Given the description of an element on the screen output the (x, y) to click on. 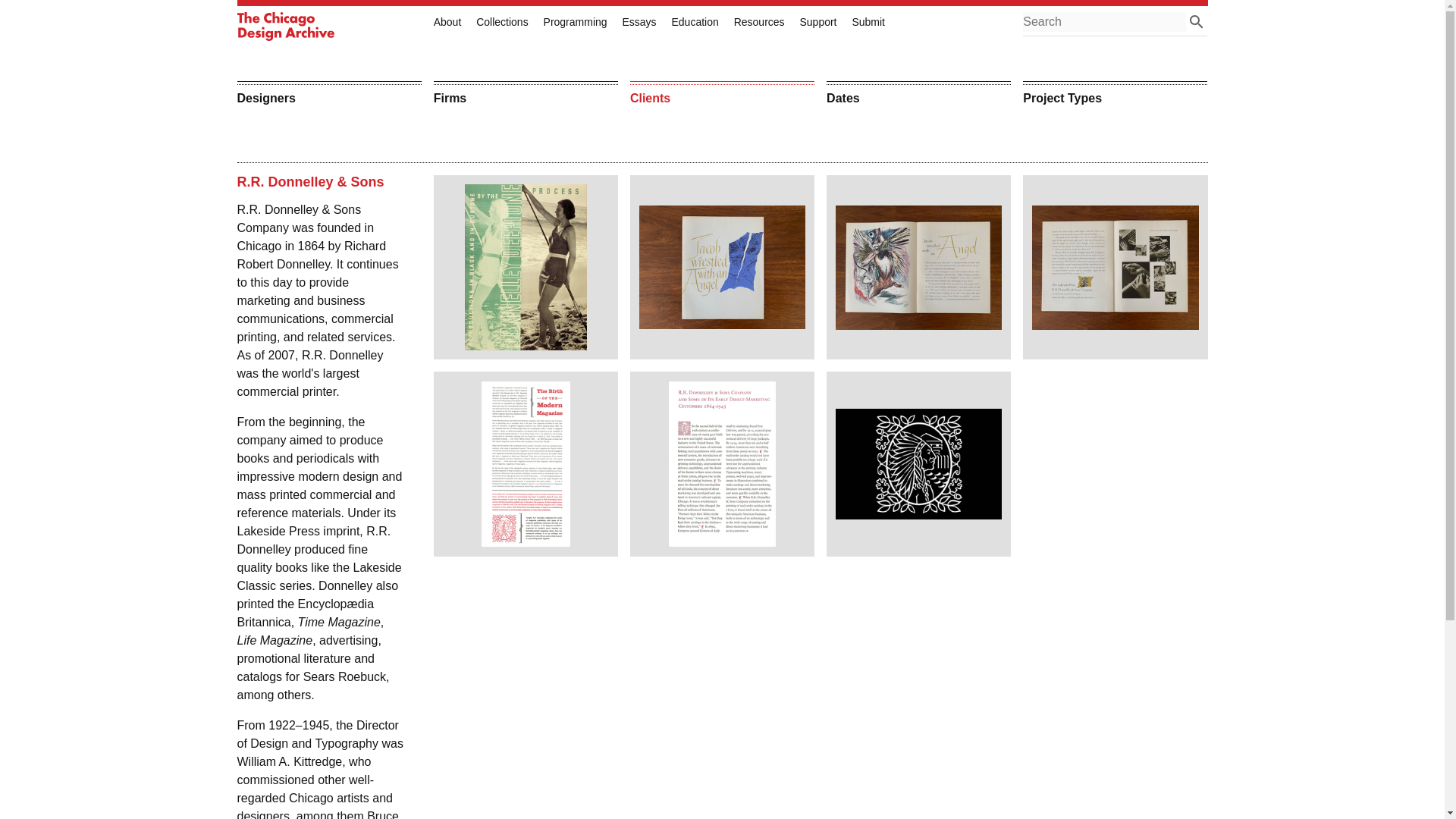
Apply (1196, 21)
Resources (758, 21)
About (447, 21)
1B-4 (525, 267)
Apply (1196, 21)
Designers (327, 94)
Essays (638, 21)
Programming (575, 21)
3C-24 (918, 463)
Education (694, 21)
Support (817, 21)
Clients (721, 94)
Dates (918, 94)
Firms (525, 94)
